Given the description of an element on the screen output the (x, y) to click on. 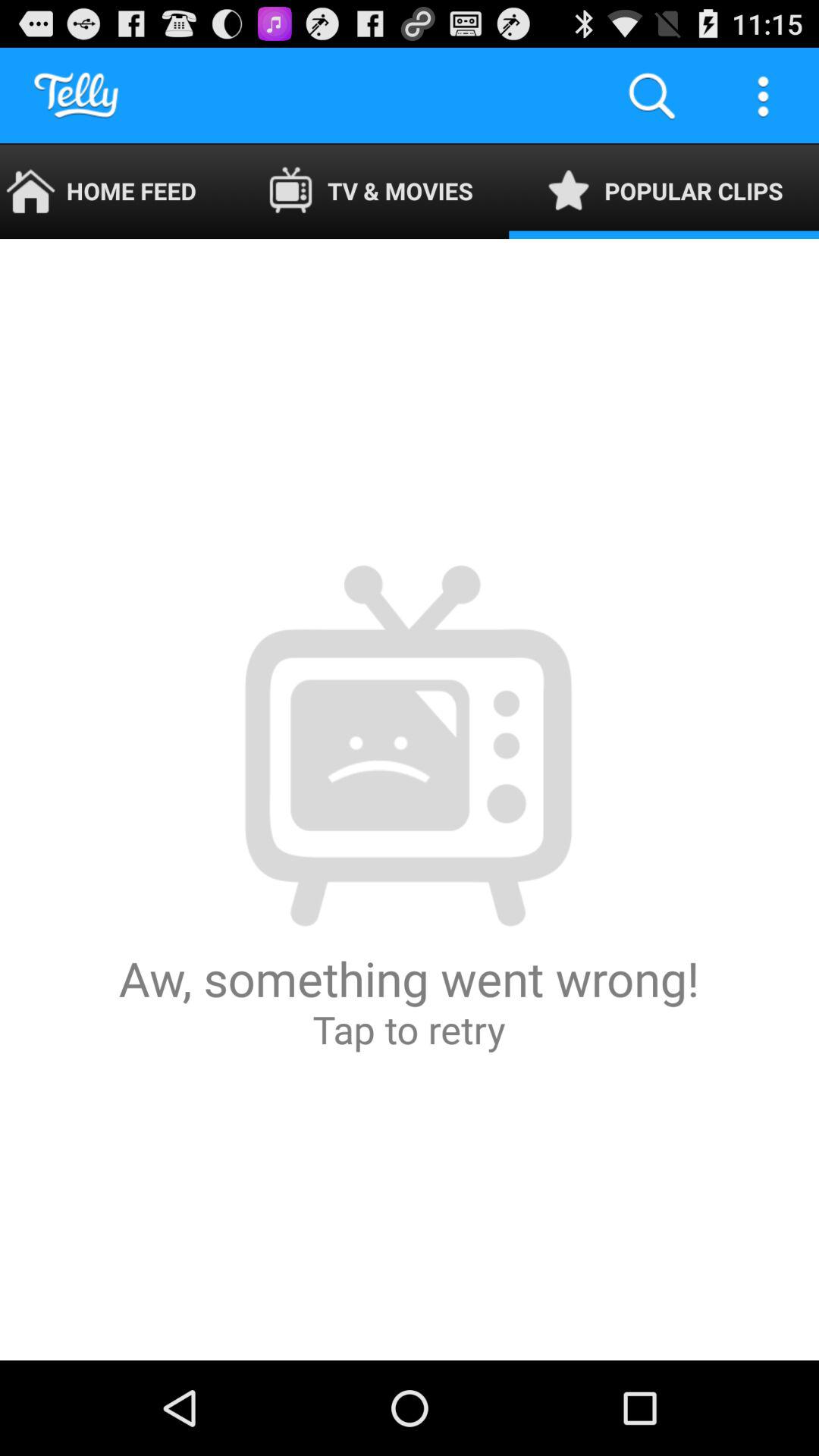
scroll to the popular clips item (664, 190)
